Given the description of an element on the screen output the (x, y) to click on. 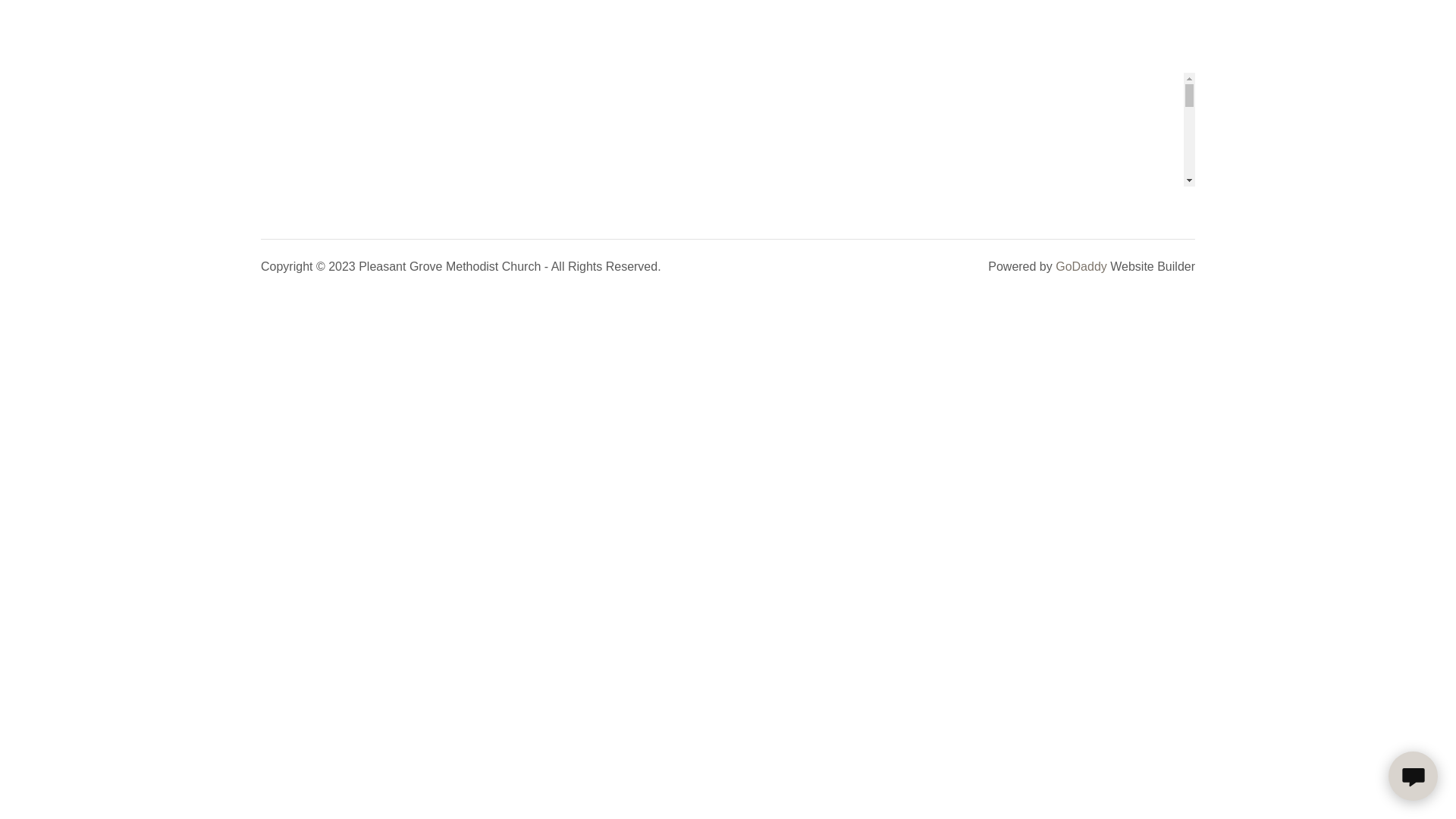
GoDaddy Element type: text (1081, 266)
